Given the description of an element on the screen output the (x, y) to click on. 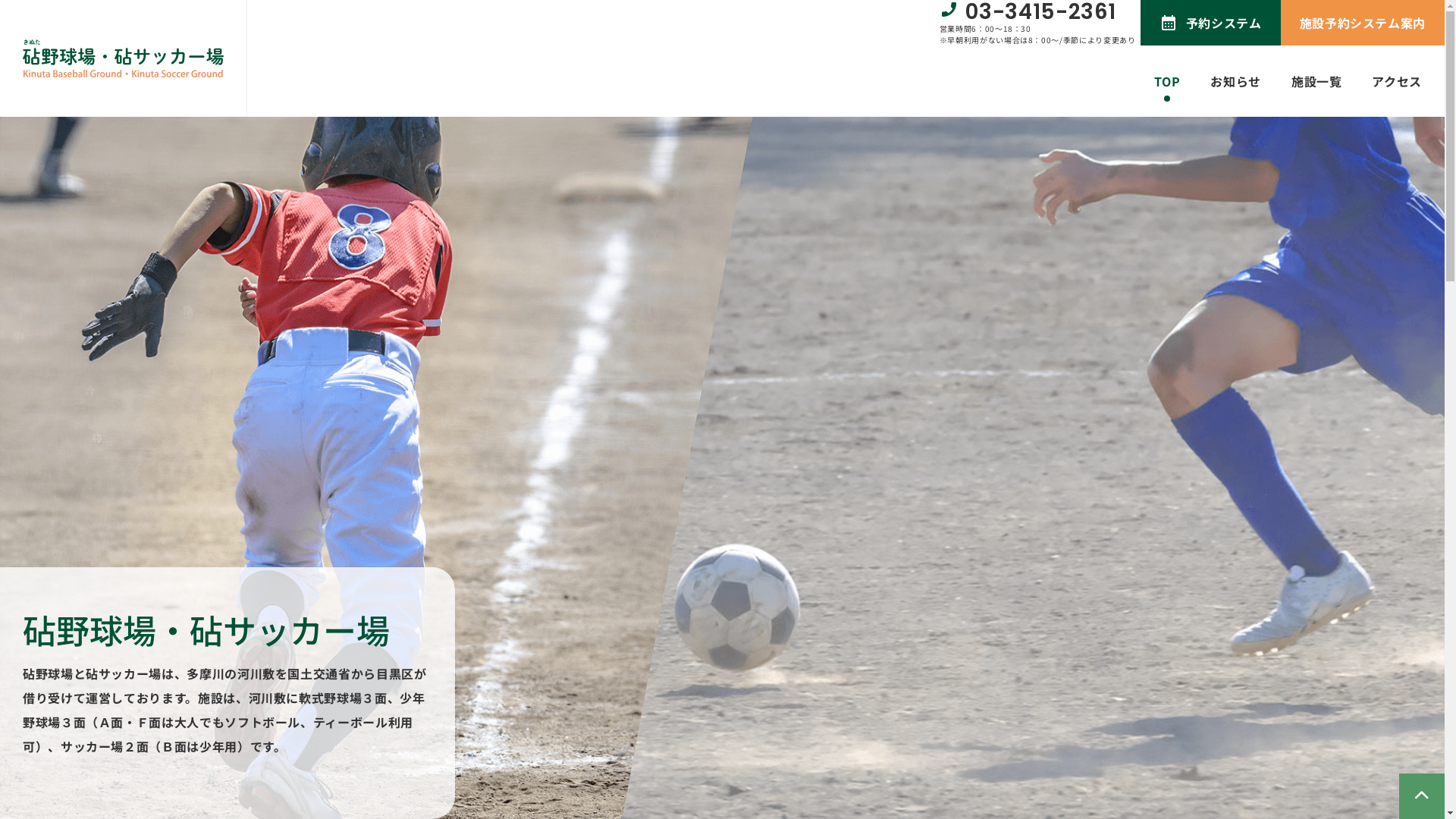
TOP Element type: text (1166, 81)
